Given the description of an element on the screen output the (x, y) to click on. 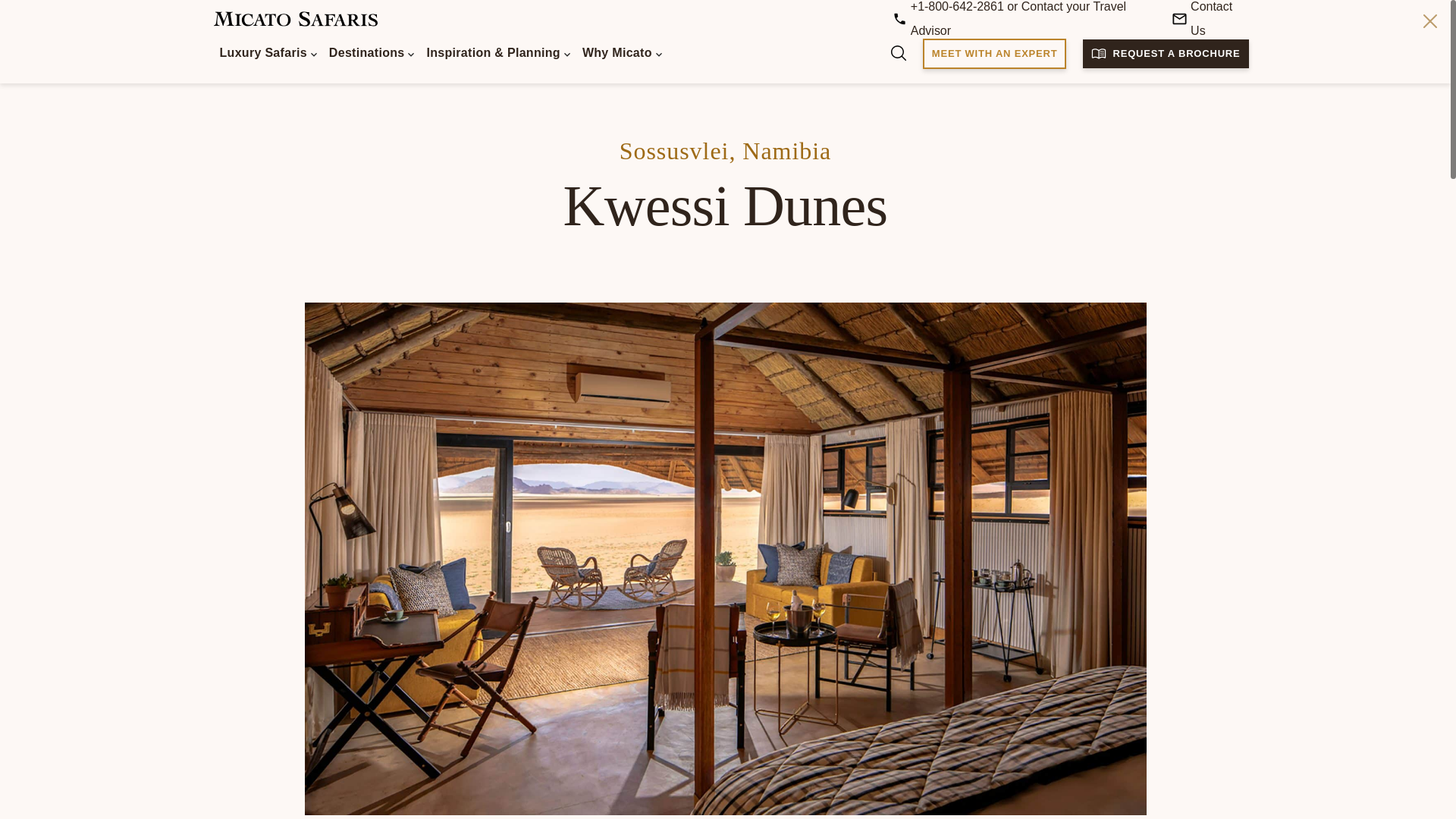
Luxury Safaris (268, 55)
